Given the description of an element on the screen output the (x, y) to click on. 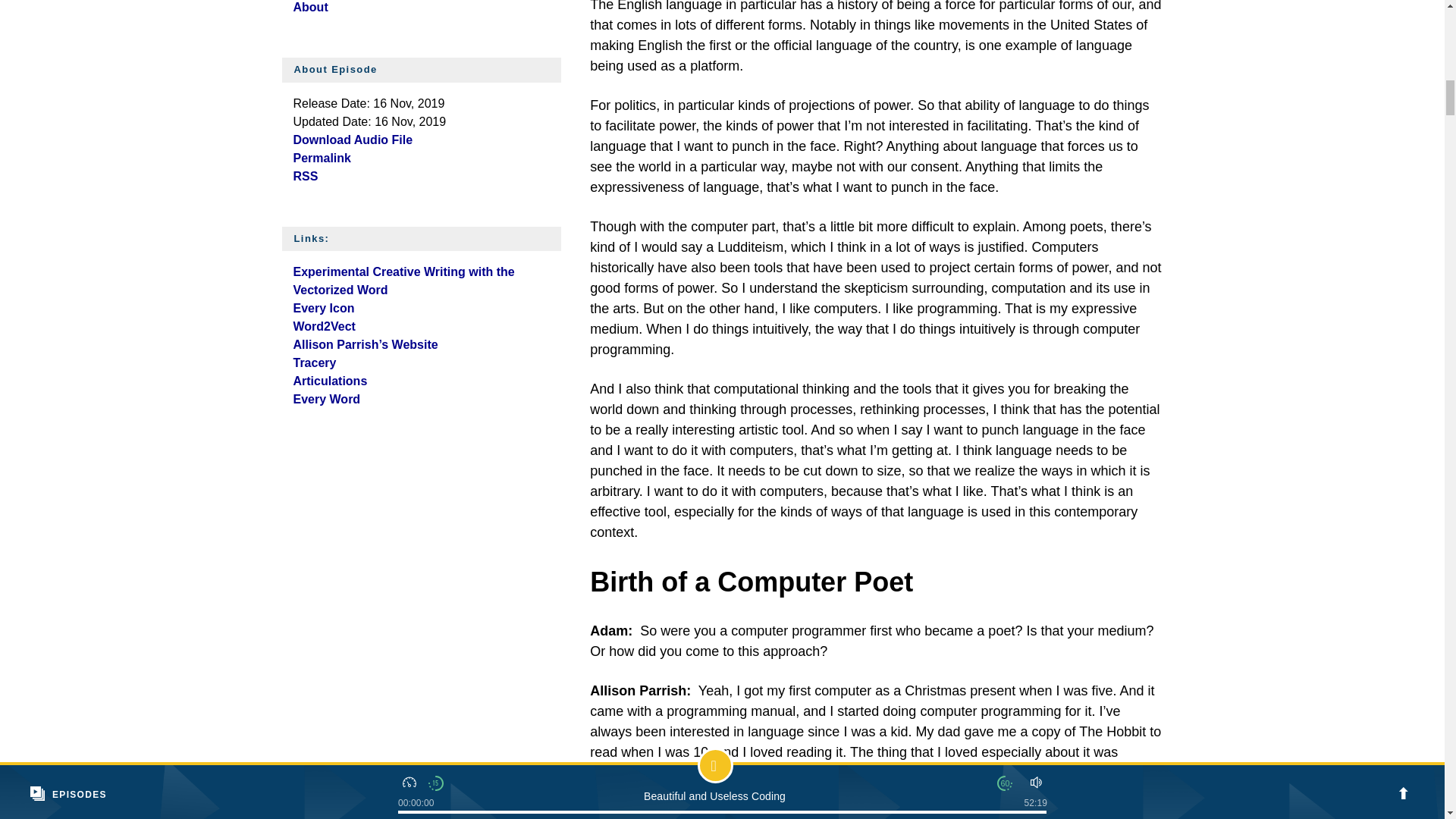
About (309, 6)
Every Icon (322, 308)
Word2Vect (323, 326)
Experimental Creative Writing with the Vectorized Word (402, 280)
